Given the description of an element on the screen output the (x, y) to click on. 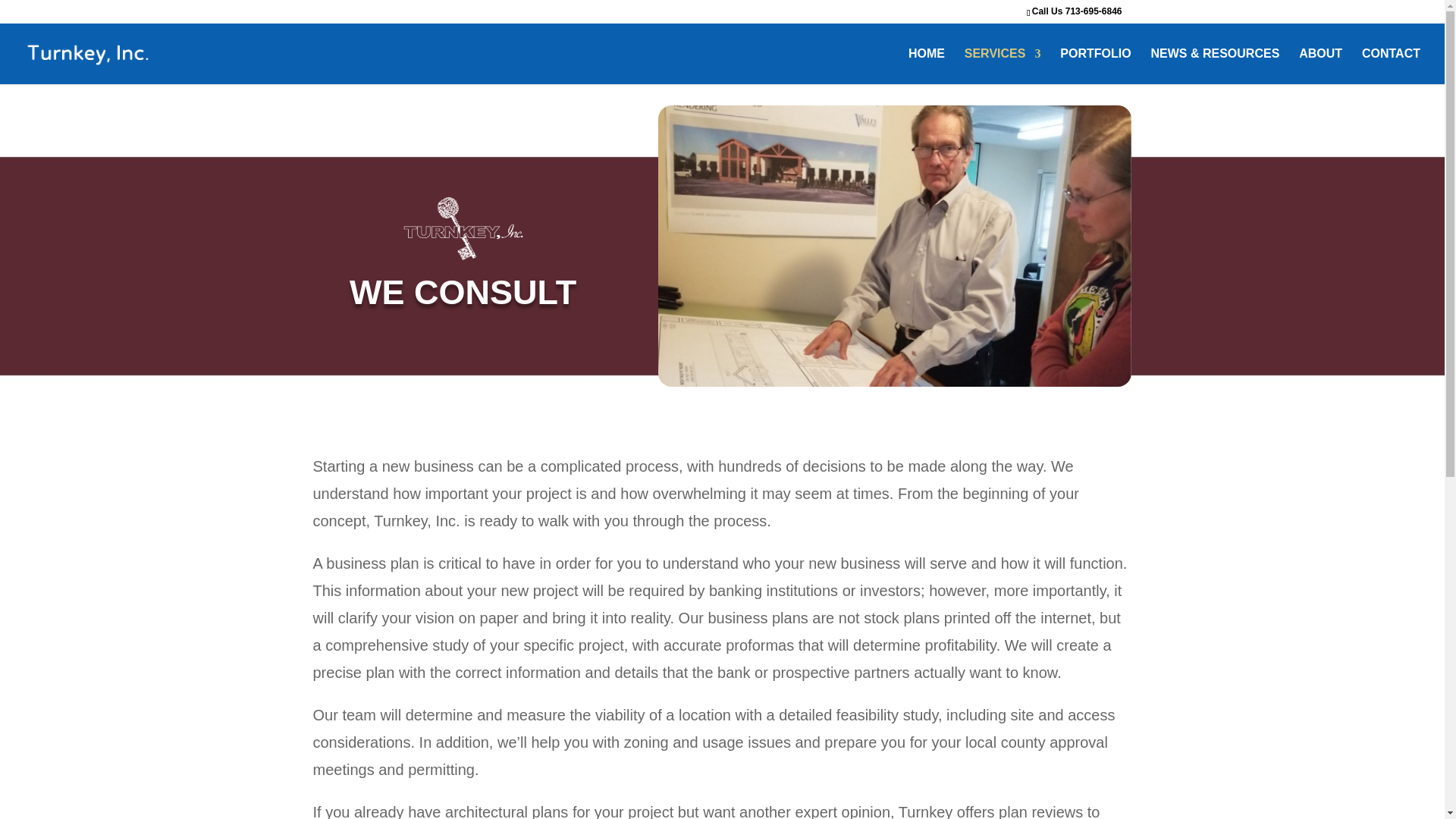
SERVICES (1002, 66)
ABOUT (1320, 66)
Turnkey-logo-white-smallest (463, 227)
HOME (926, 66)
CONTACT (1391, 66)
PORTFOLIO (1095, 66)
